Given the description of an element on the screen output the (x, y) to click on. 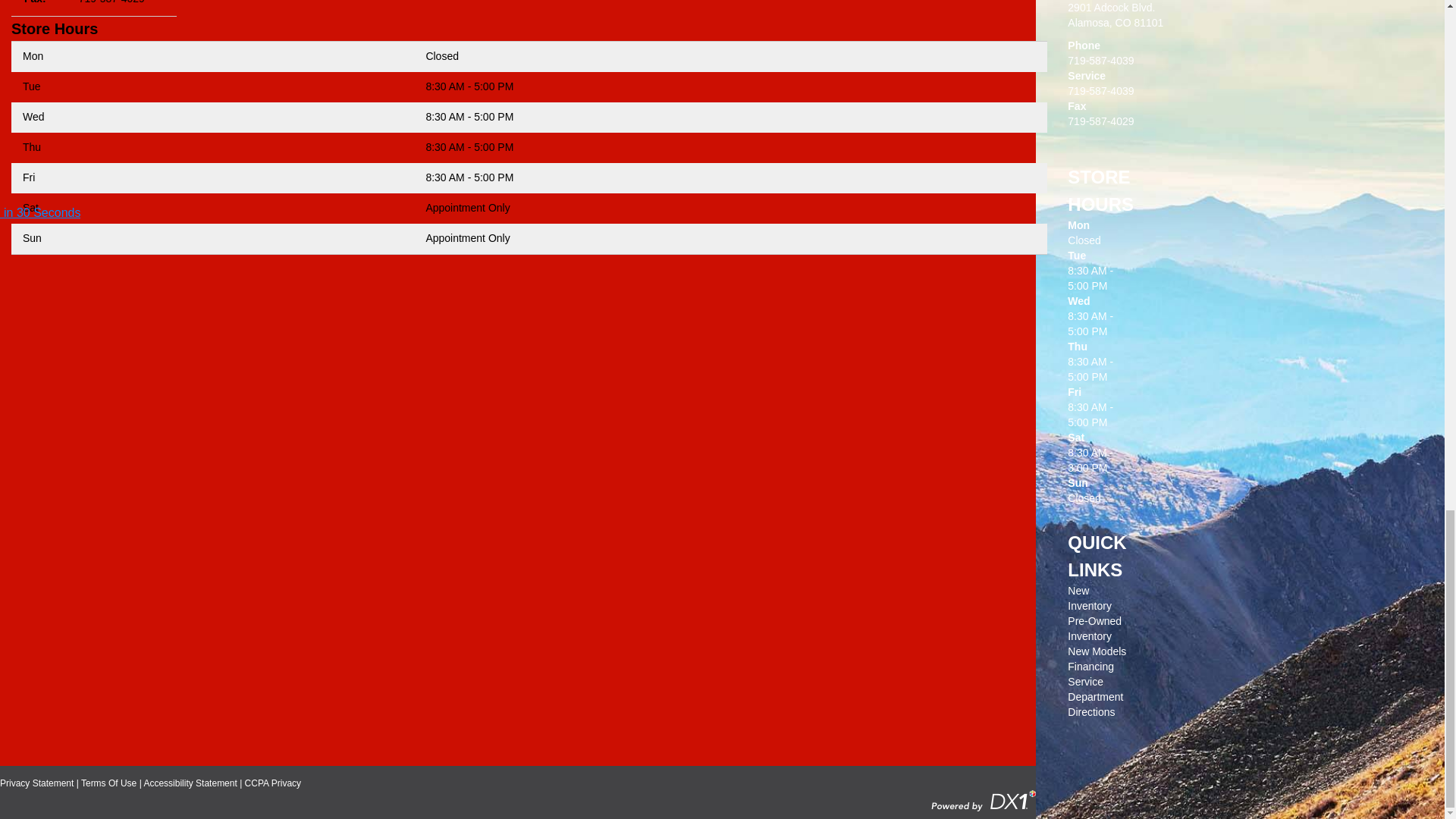
Powered by DX1 (983, 799)
